Given the description of an element on the screen output the (x, y) to click on. 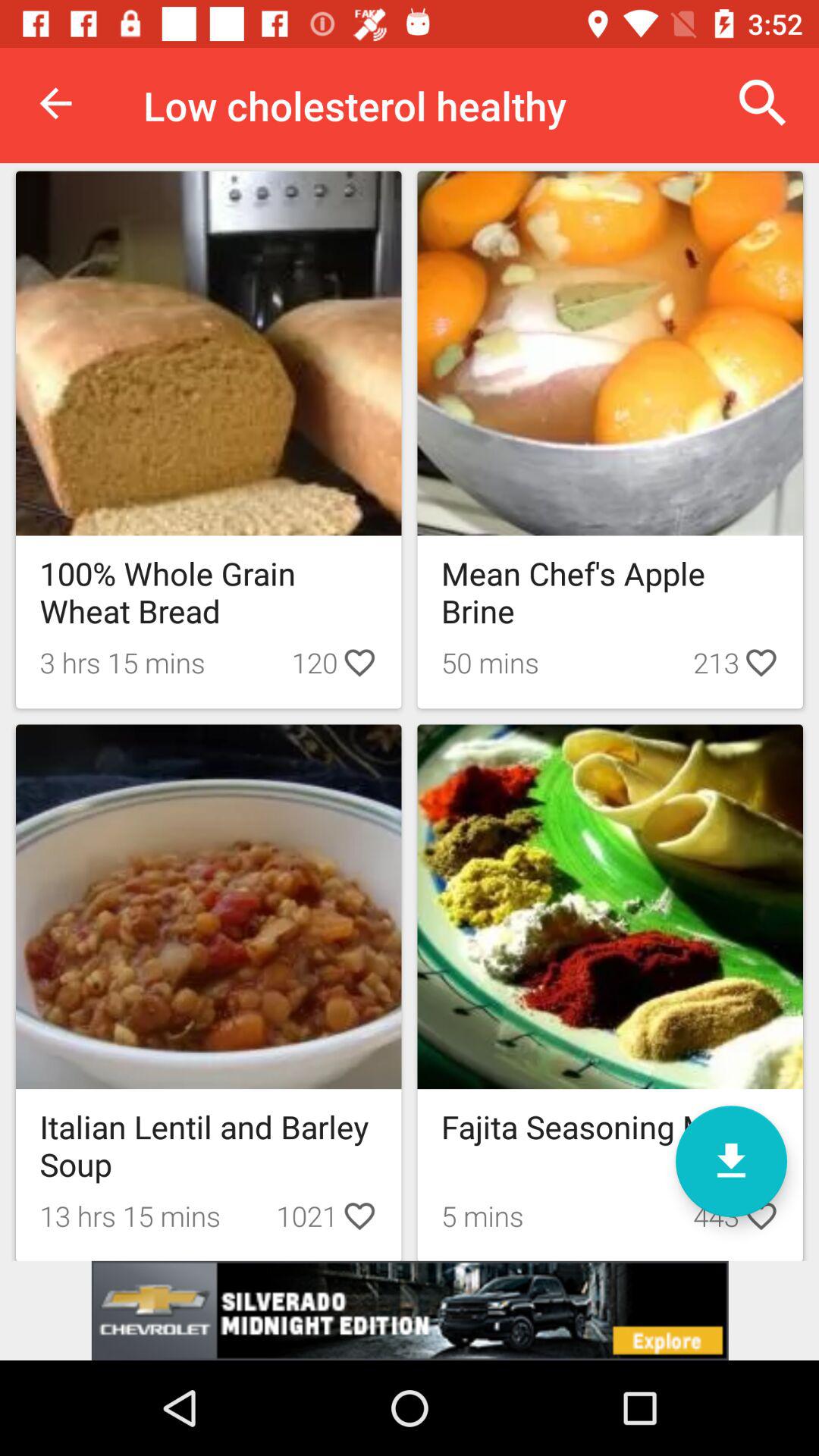
advertisement box (409, 1310)
